Given the description of an element on the screen output the (x, y) to click on. 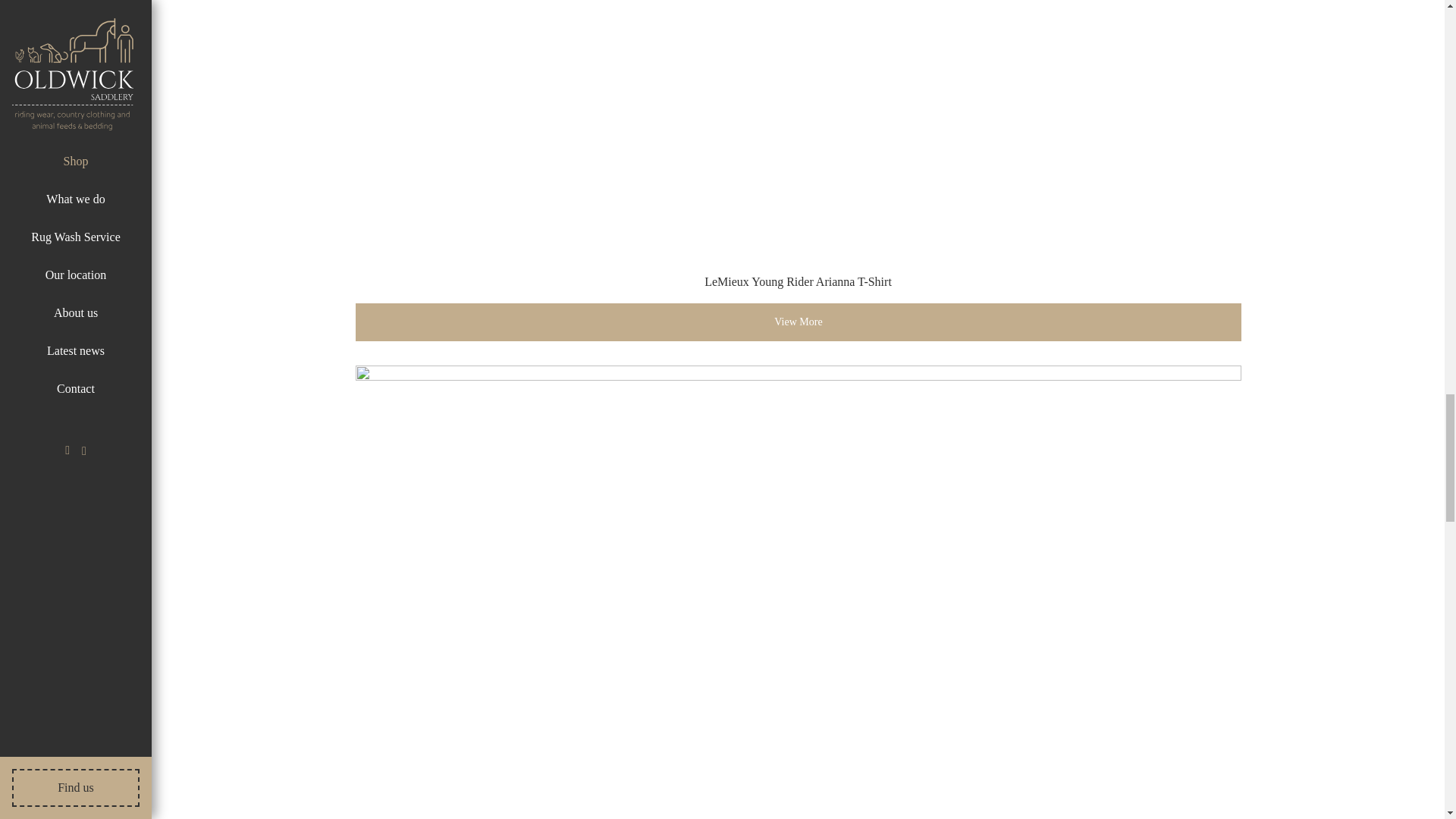
View More (797, 322)
